Given the description of an element on the screen output the (x, y) to click on. 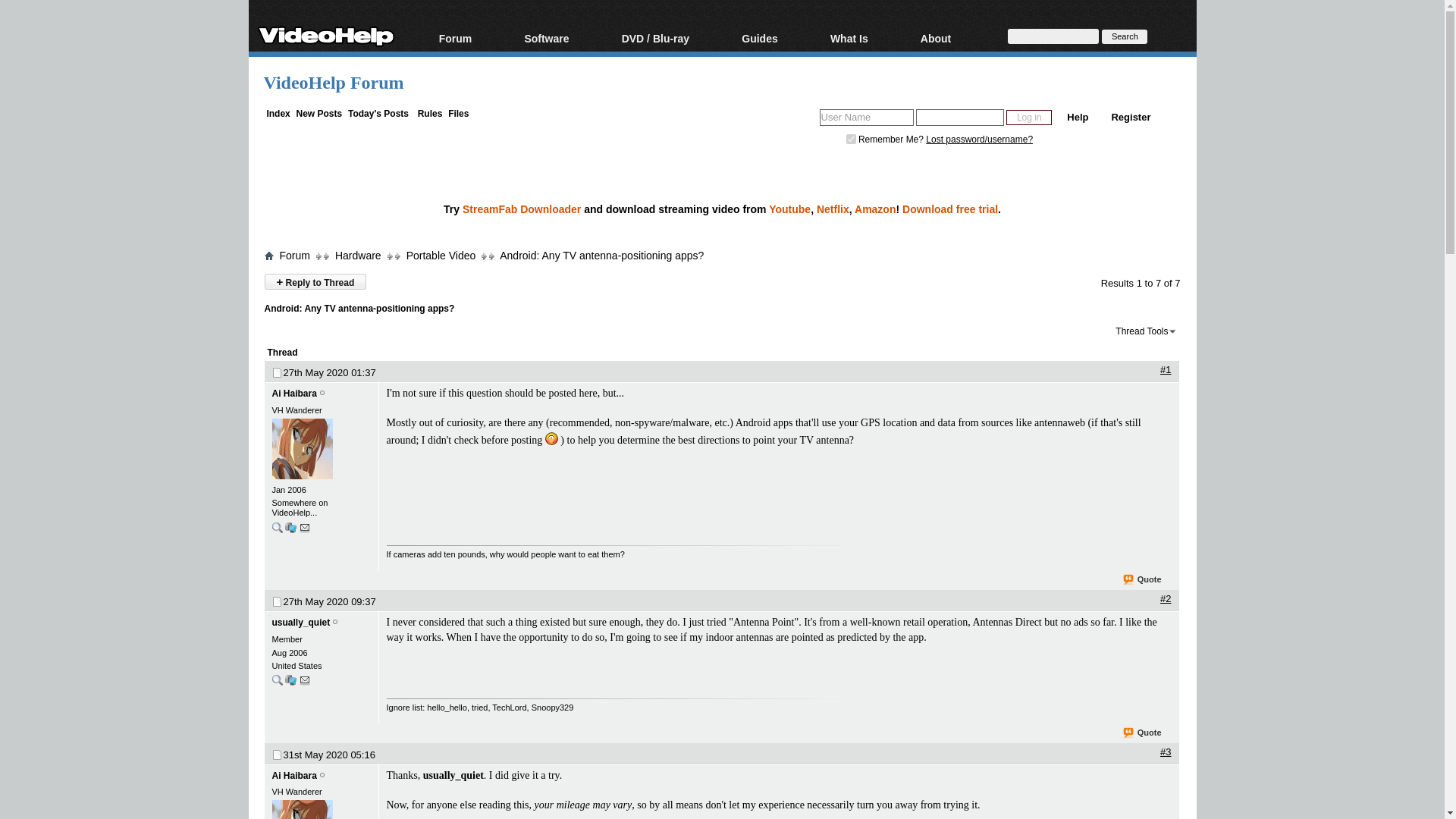
Software (564, 40)
Users posts: 14,049 (276, 679)
1 (850, 139)
Embarassed (550, 438)
Files (458, 113)
About (953, 40)
New Posts (319, 113)
Guides (777, 40)
Computer details: Windows 10 x64 (291, 531)
User Name (866, 117)
Index (277, 113)
Computer details: Windows 10 x64 (291, 527)
Log in (1028, 117)
VideoHelp Forum (333, 82)
